Given the description of an element on the screen output the (x, y) to click on. 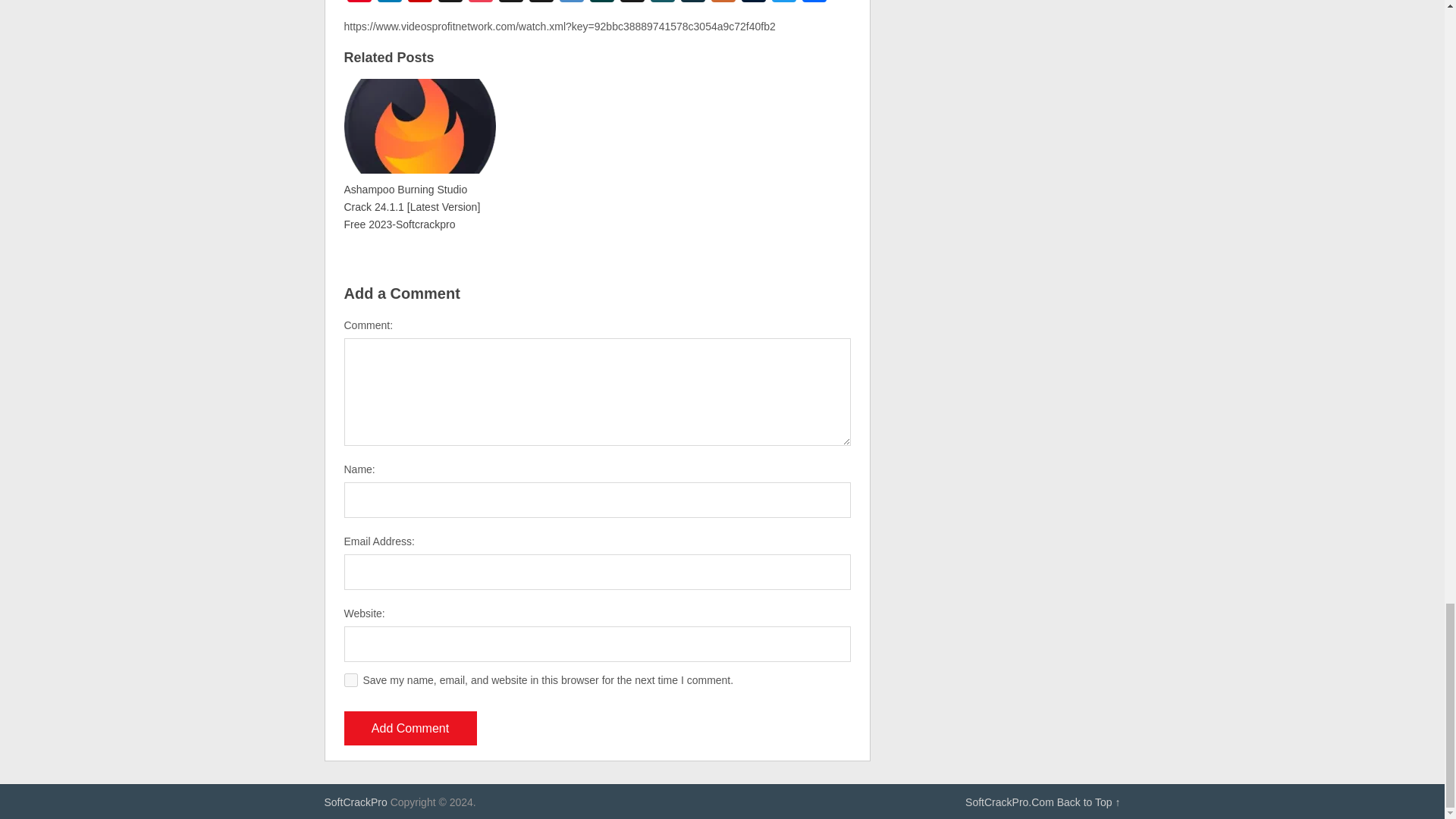
Slashdot (601, 2)
Flipboard (419, 2)
Pocket (480, 2)
Pinterest (358, 2)
yes (350, 680)
Digg (540, 2)
Pinterest (358, 2)
Instapaper (450, 2)
Pocket (480, 2)
Instapaper (450, 2)
